Given the description of an element on the screen output the (x, y) to click on. 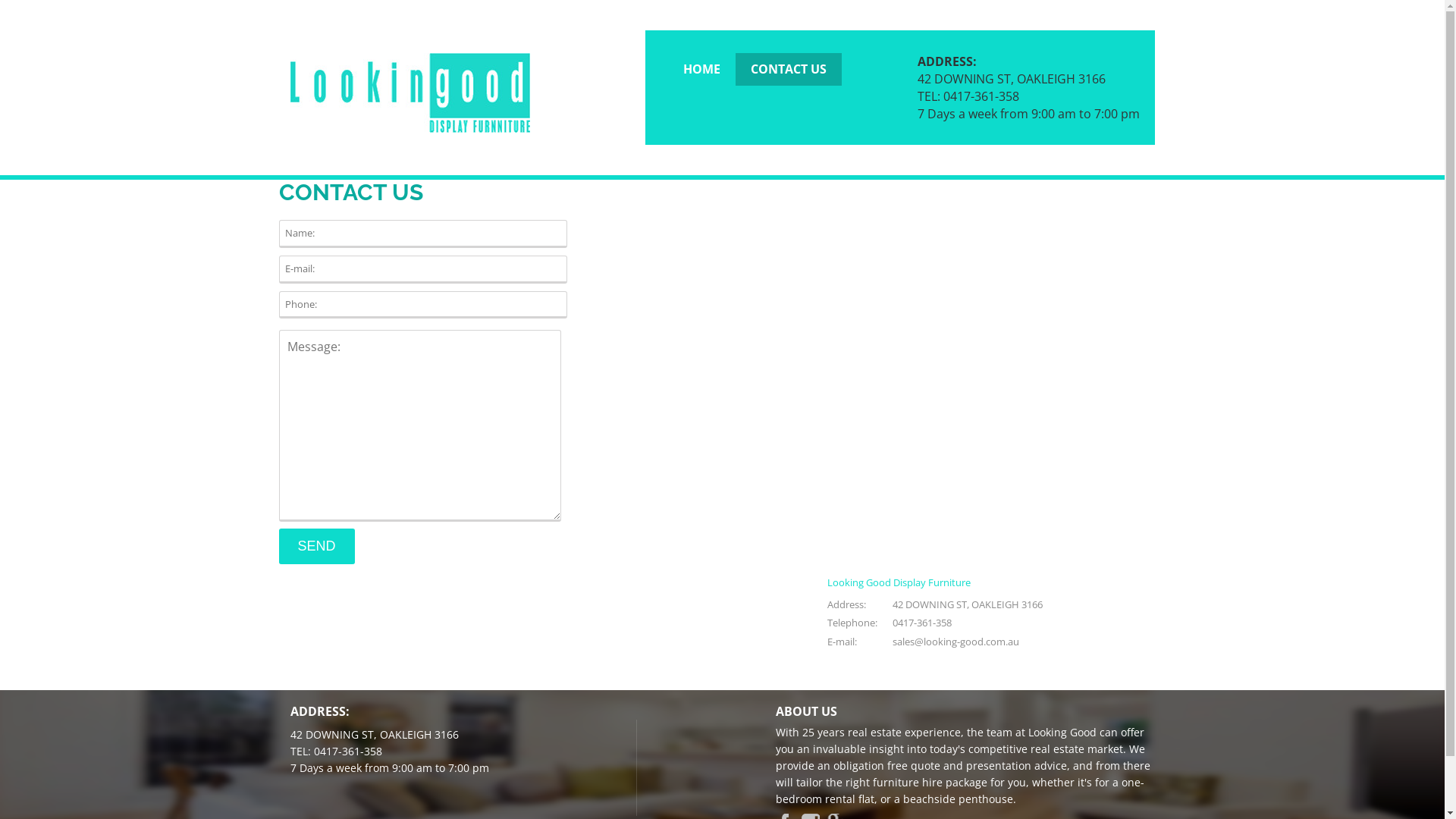
Send Element type: text (316, 546)
sales@looking-good.com.au Element type: text (954, 641)
HOME Element type: text (700, 69)
CONTACT US Element type: text (788, 69)
